Given the description of an element on the screen output the (x, y) to click on. 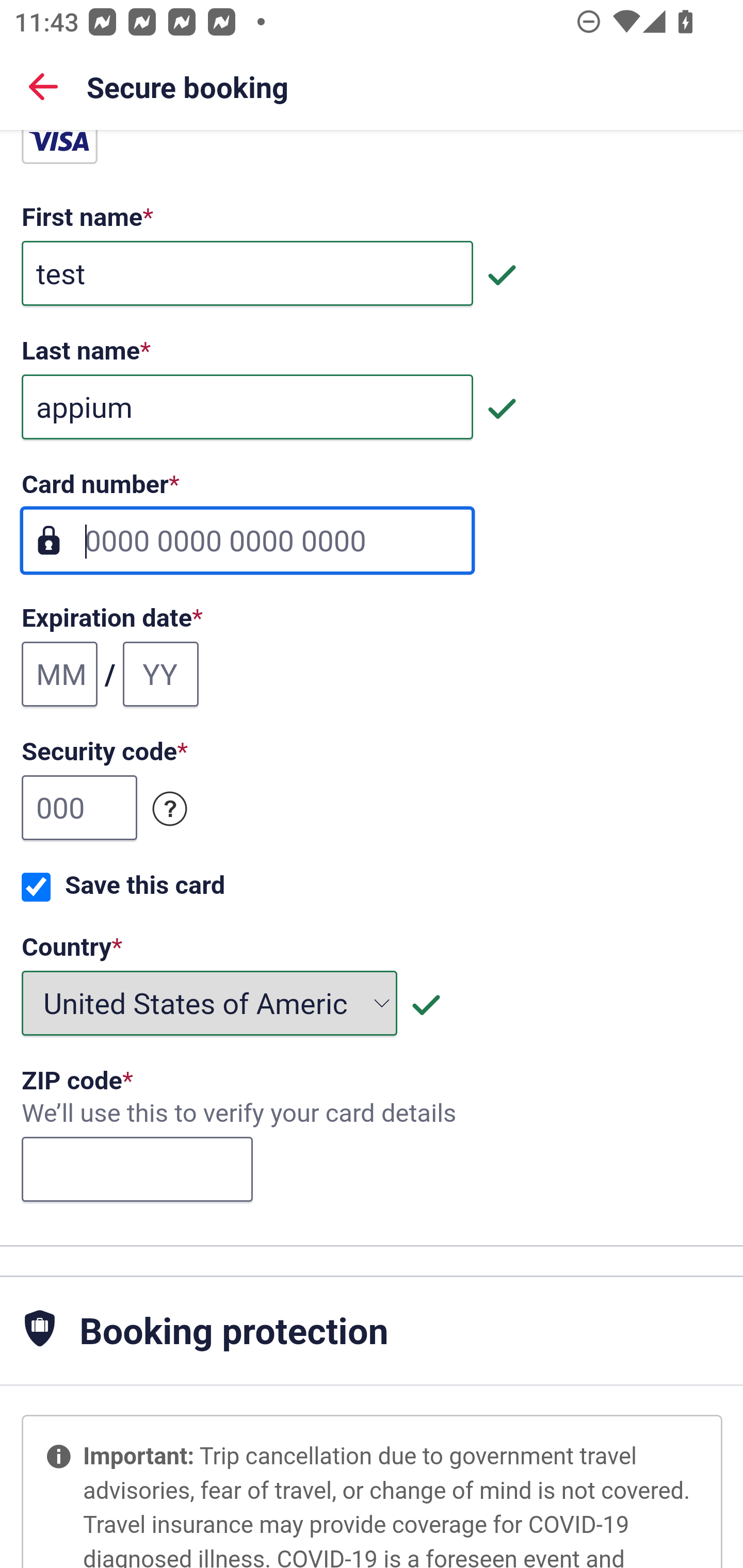
Back (43, 86)
test (247, 273)
appium (247, 406)
Security code (170, 807)
Save this card (36, 887)
United States of America (209, 1002)
